Given the description of an element on the screen output the (x, y) to click on. 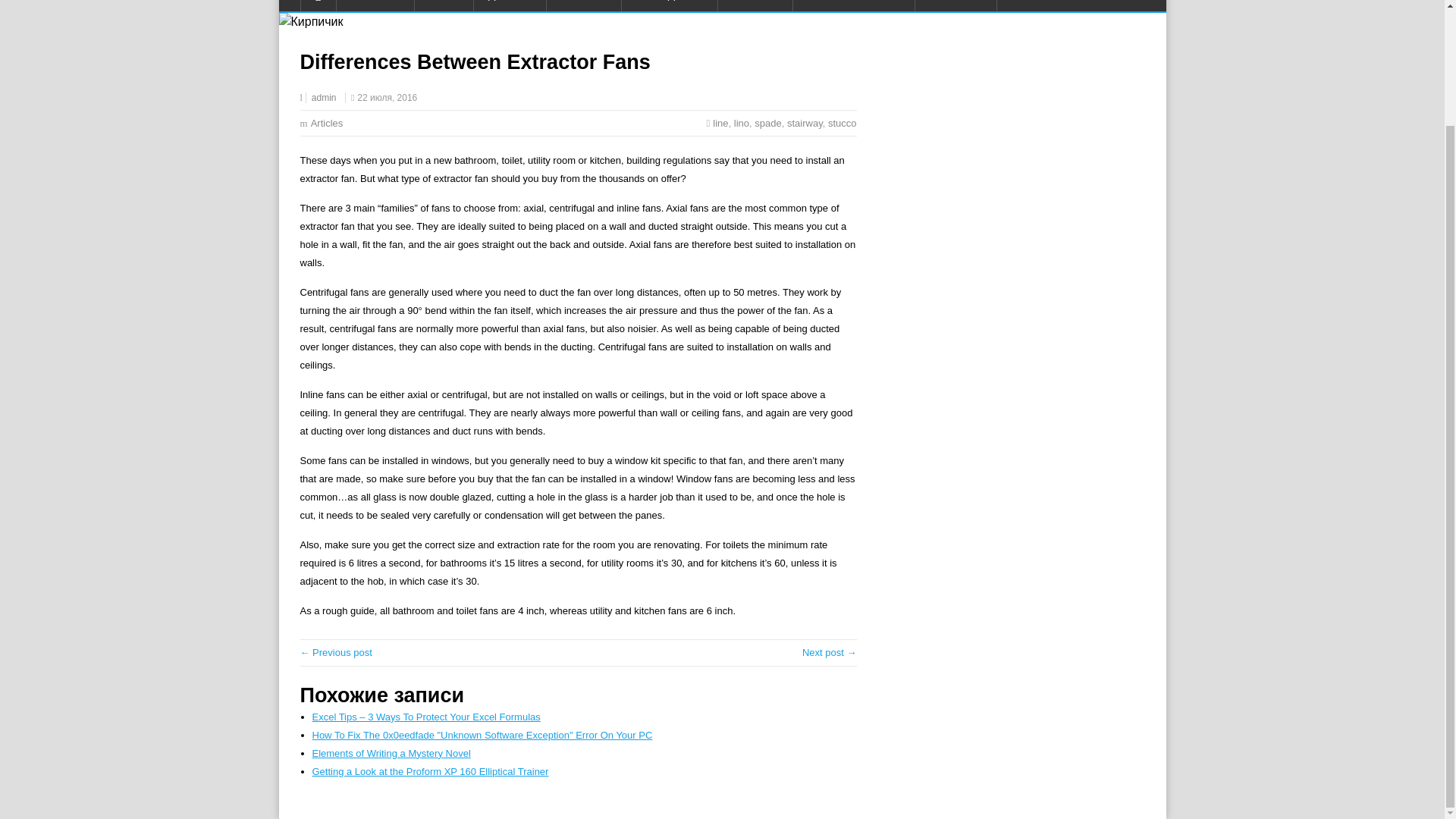
Articles (327, 122)
lino (741, 122)
stucco (842, 122)
stairway (804, 122)
ARTICLES (955, 5)
Chiaroscuro - A Dark and Light Blend (335, 652)
admin (323, 97)
Elements of Writing a Mystery Novel (391, 753)
line (720, 122)
